Given the description of an element on the screen output the (x, y) to click on. 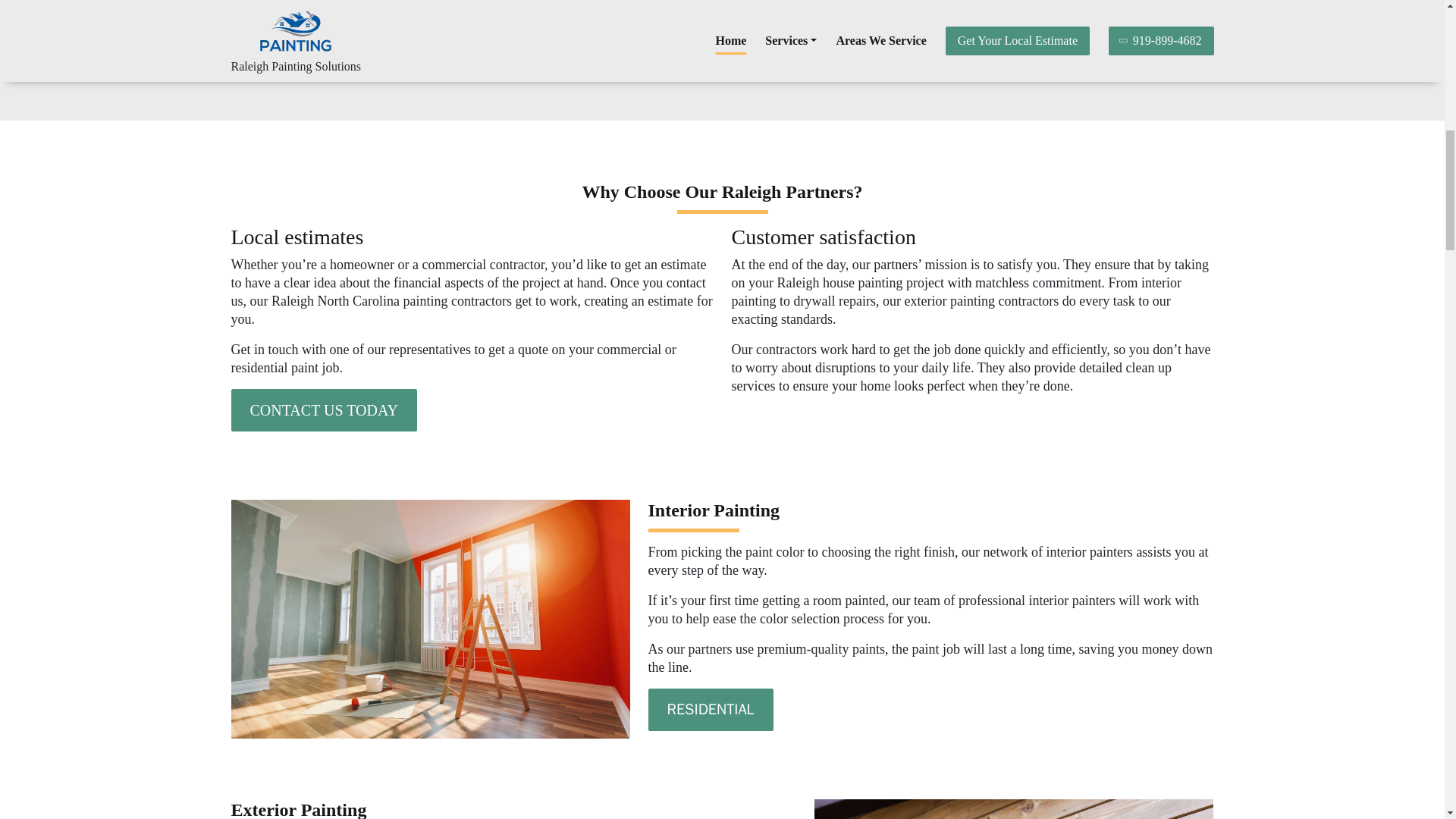
RESIDENTIAL (710, 709)
CONTACT US TODAY (323, 410)
